Given the description of an element on the screen output the (x, y) to click on. 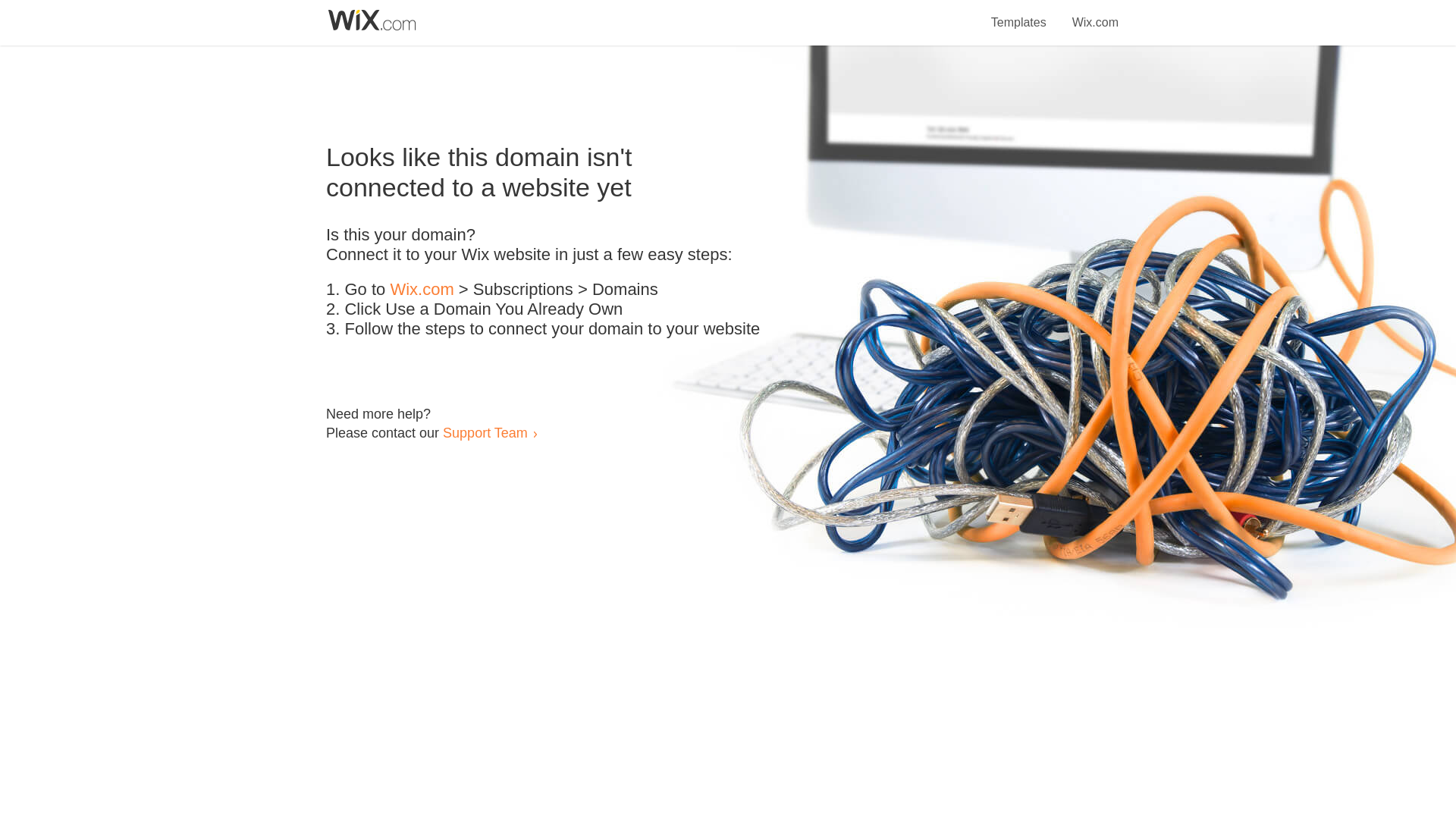
Wix.com (1095, 14)
Templates (1018, 14)
Support Team (484, 432)
Wix.com (421, 289)
